Given the description of an element on the screen output the (x, y) to click on. 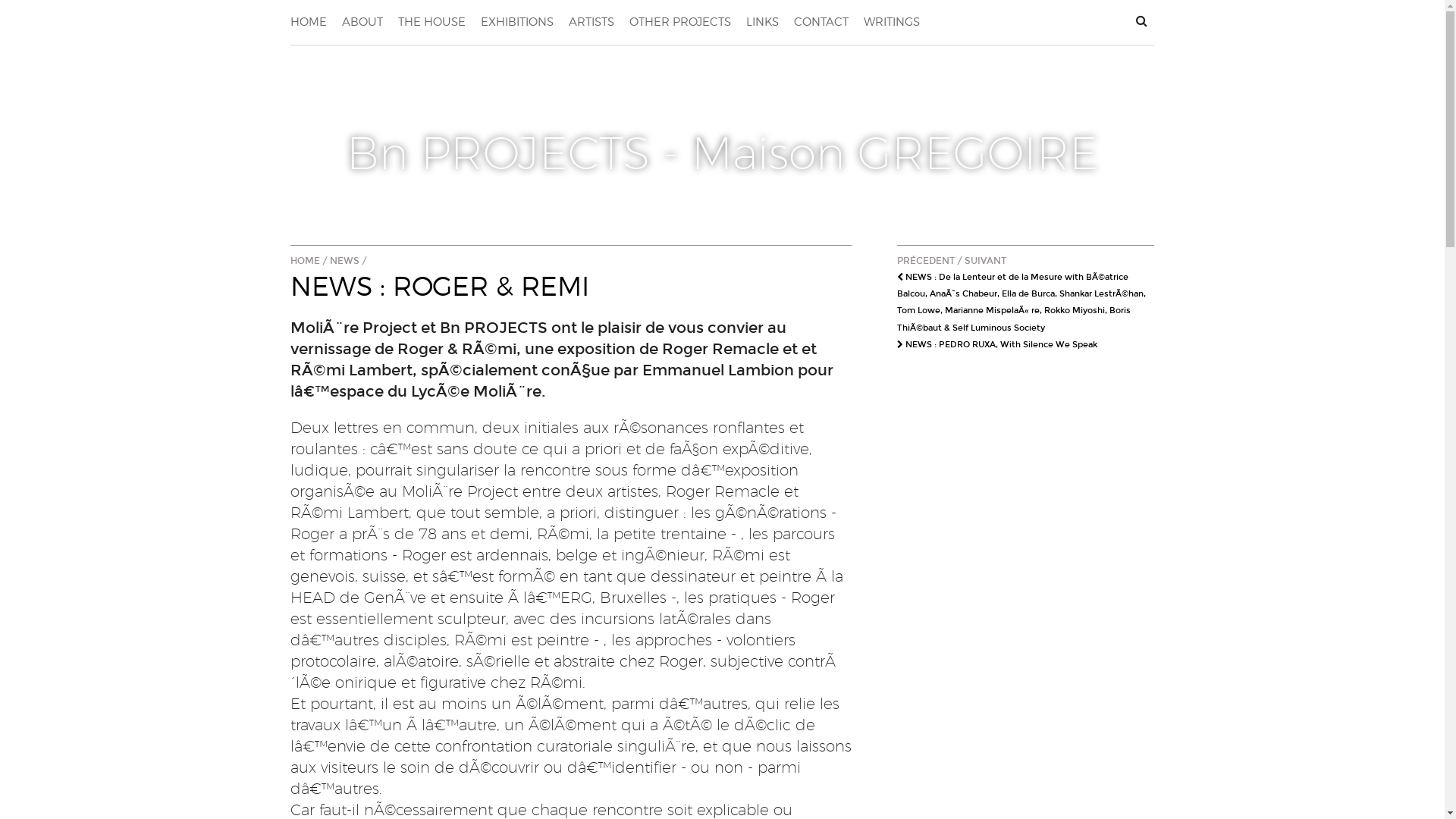
ARTISTS Element type: text (591, 22)
NEWS Element type: text (343, 260)
EXHIBITIONS Element type: text (516, 22)
THE HOUSE Element type: text (430, 22)
Bn PROJECTS - Maison GREGOIRE Element type: text (721, 133)
NEWS : PEDRO RUXA, With Silence We Speak Element type: text (996, 344)
HOME Element type: text (304, 260)
LINKS Element type: text (762, 22)
ABOUT Element type: text (361, 22)
OTHER PROJECTS Element type: text (680, 22)
WRITINGS Element type: text (890, 22)
CONTACT Element type: text (820, 22)
HOME Element type: text (307, 22)
